Given the description of an element on the screen output the (x, y) to click on. 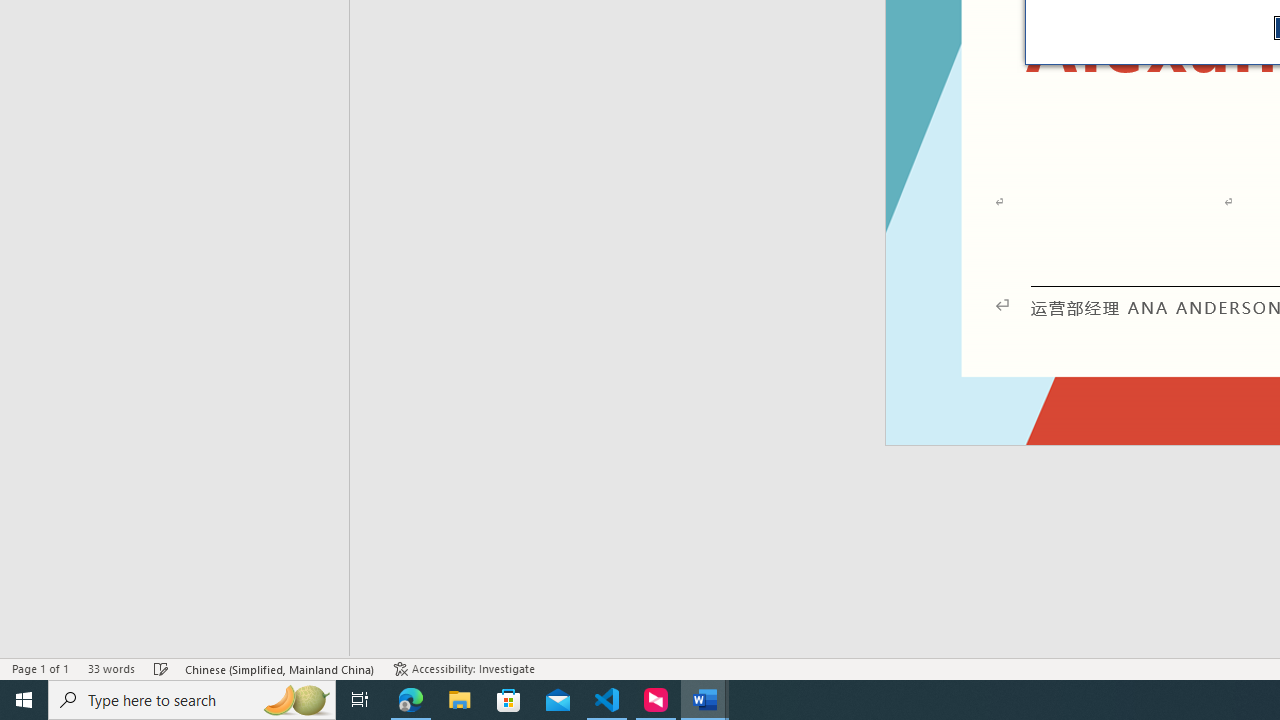
Search highlights icon opens search home window (295, 699)
